Given the description of an element on the screen output the (x, y) to click on. 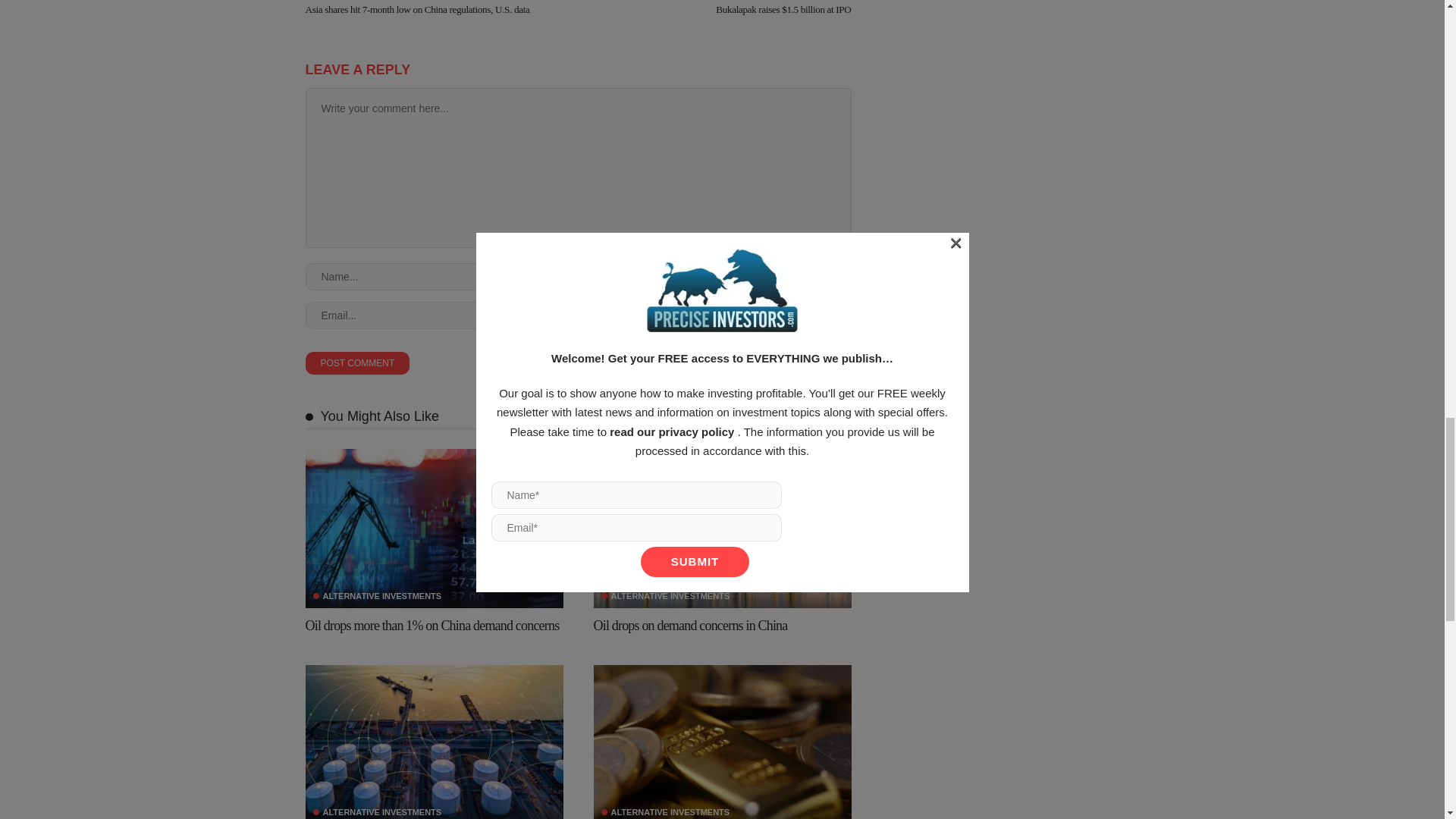
Asia shares hit 7-month low on China regulations, U.S. data (416, 9)
Post Comment (356, 363)
ALTERNATIVE INVESTMENTS (377, 596)
Post Comment (356, 363)
Asia shares hit 7-month low on China regulations, U.S. data (416, 9)
